Given the description of an element on the screen output the (x, y) to click on. 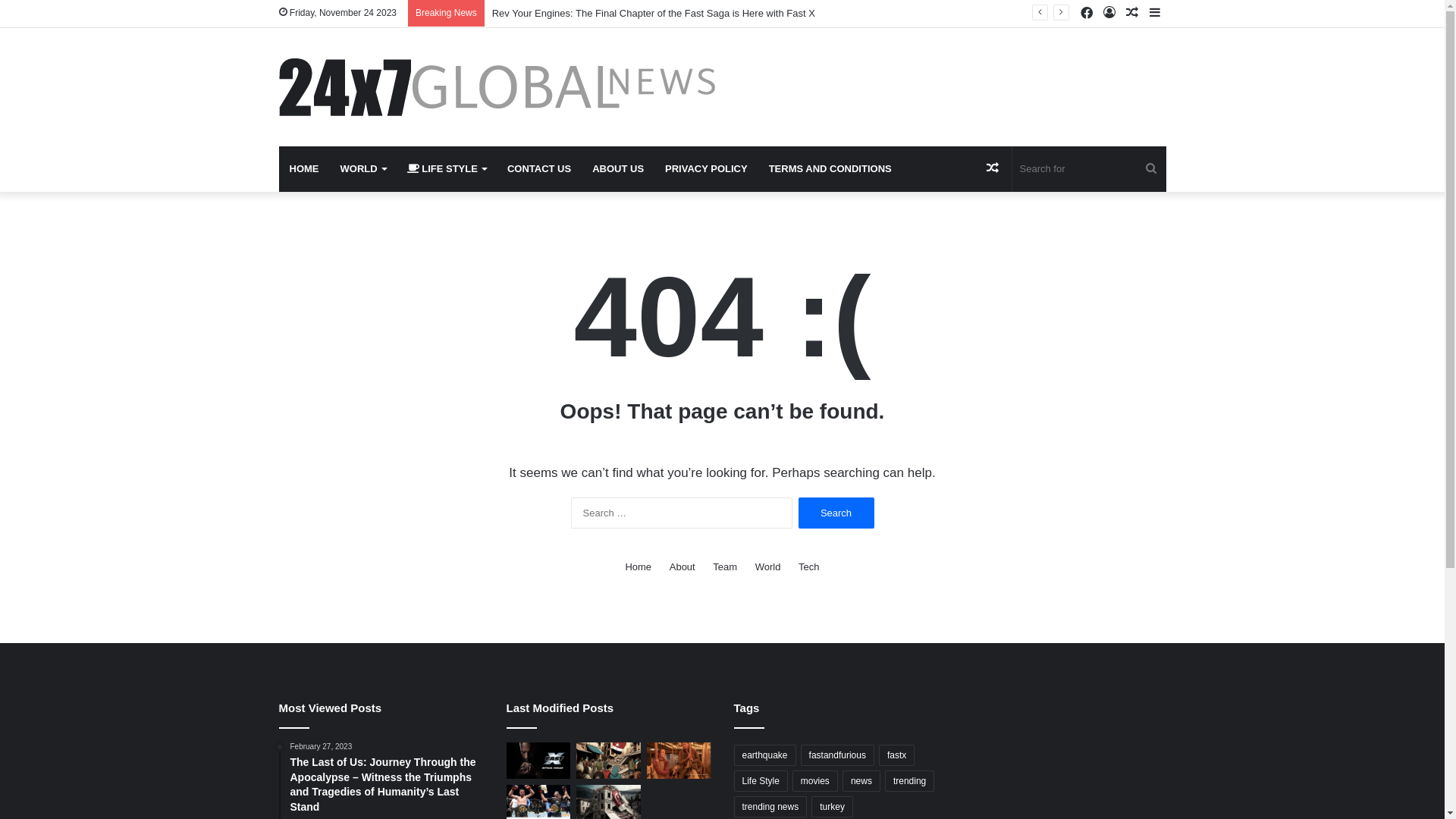
earthquake Element type: text (765, 754)
PRIVACY POLICY Element type: text (706, 168)
trending Element type: text (909, 780)
World Element type: text (768, 566)
Random Article Element type: text (1131, 13)
fastandfurious Element type: text (837, 754)
24x7 Global News Element type: hover (497, 87)
Search Element type: text (835, 512)
CONTACT US Element type: text (538, 168)
ABOUT US Element type: text (617, 168)
Log In Element type: text (1109, 13)
turkey Element type: text (832, 806)
Life Style Element type: text (760, 780)
Home Element type: text (637, 566)
Search for Element type: text (1150, 168)
movies Element type: text (814, 780)
fastx Element type: text (896, 754)
Facebook Element type: text (1086, 13)
Sidebar Element type: text (1154, 13)
Tech Element type: text (808, 566)
LIFE STYLE Element type: text (446, 168)
Random Article Element type: text (992, 168)
HOME Element type: text (304, 168)
TERMS AND CONDITIONS Element type: text (830, 168)
About Element type: text (682, 566)
Search for Element type: hover (1088, 168)
news Element type: text (861, 780)
trending news Element type: text (770, 806)
Team Element type: text (724, 566)
WORLD Element type: text (362, 168)
